Given the description of an element on the screen output the (x, y) to click on. 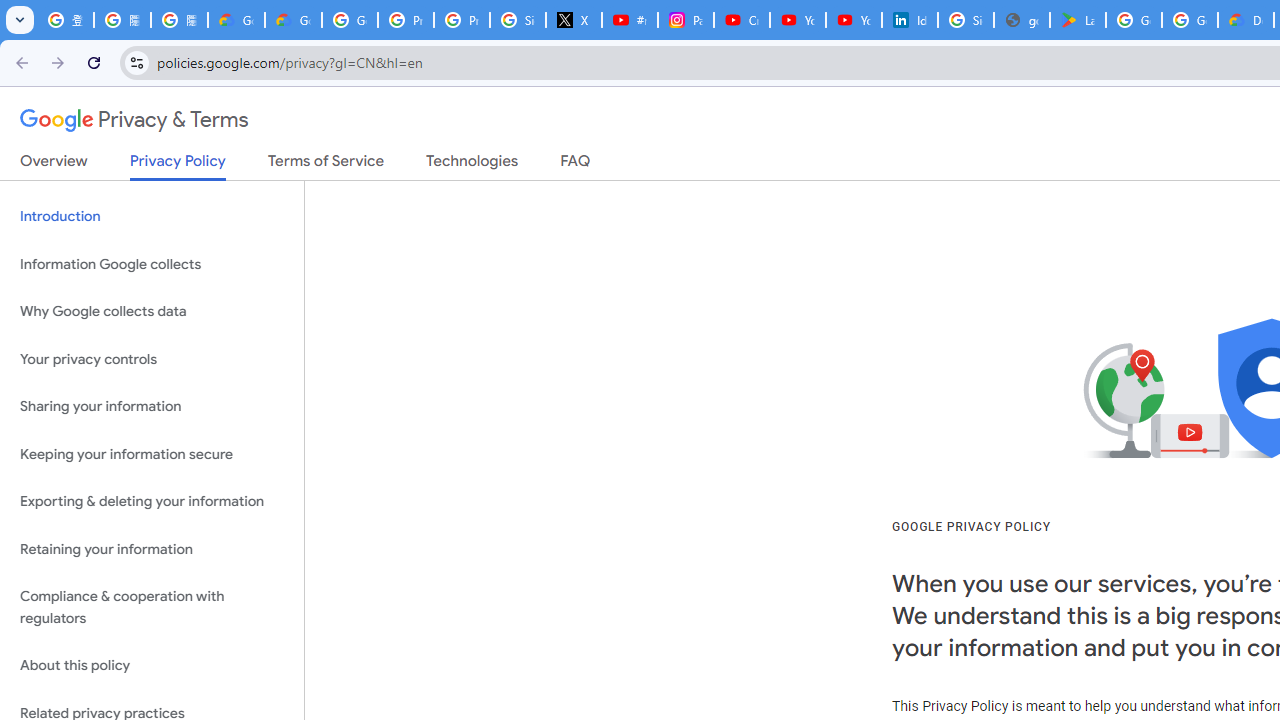
Privacy Help Center - Policies Help (461, 20)
About this policy (152, 666)
Privacy Help Center - Policies Help (405, 20)
Information Google collects (152, 263)
Exporting & deleting your information (152, 502)
Sign in - Google Accounts (518, 20)
Overview (54, 165)
YouTube Culture & Trends - YouTube Top 10, 2021 (853, 20)
Last Shelter: Survival - Apps on Google Play (1077, 20)
Google Workspace - Specific Terms (1190, 20)
Why Google collects data (152, 312)
